Given the description of an element on the screen output the (x, y) to click on. 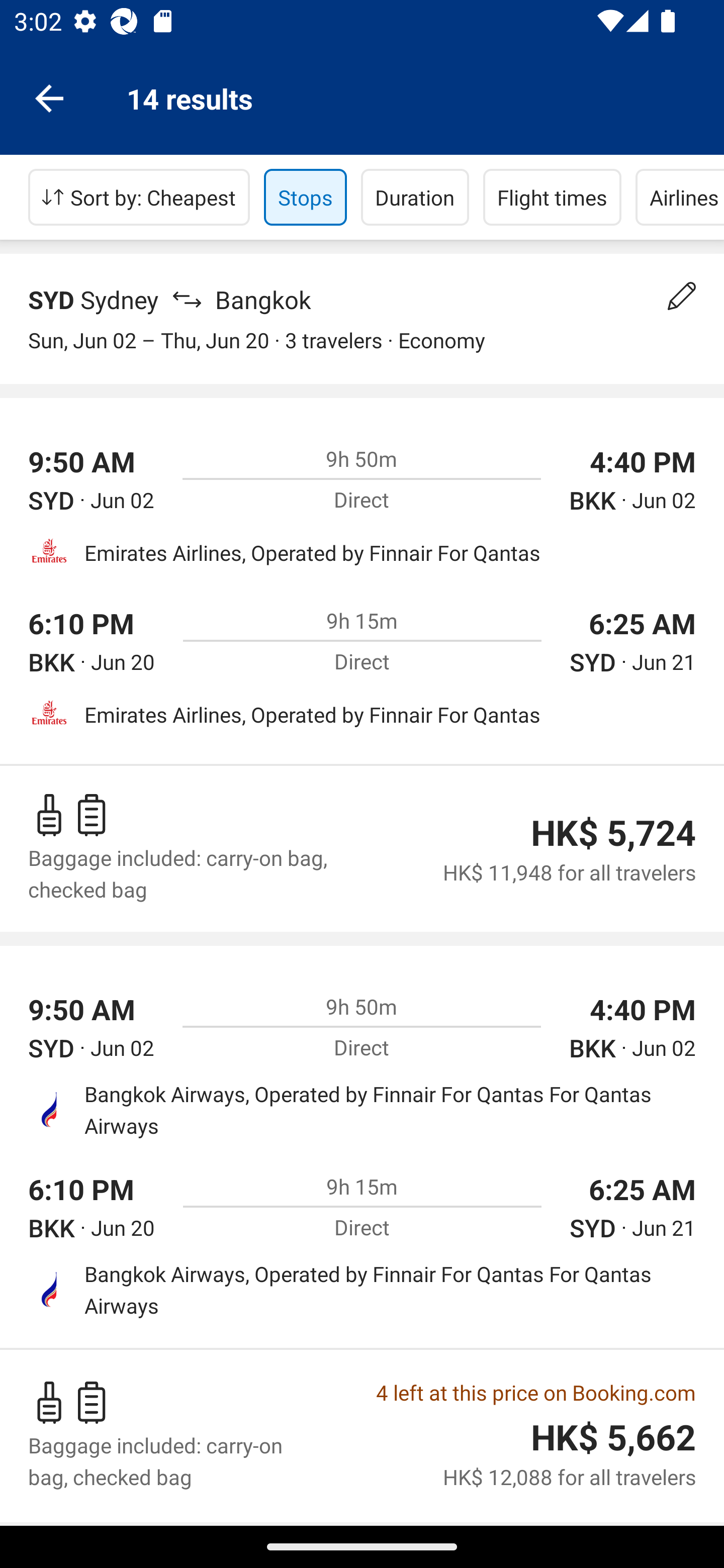
Navigate up (49, 97)
Sort by: Cheapest (138, 197)
Stops (305, 197)
Duration (415, 197)
Flight times (551, 197)
Airlines (679, 197)
Change your search details (681, 296)
HK$ 5,724 (612, 833)
HK$ 5,662 (612, 1437)
